Given the description of an element on the screen output the (x, y) to click on. 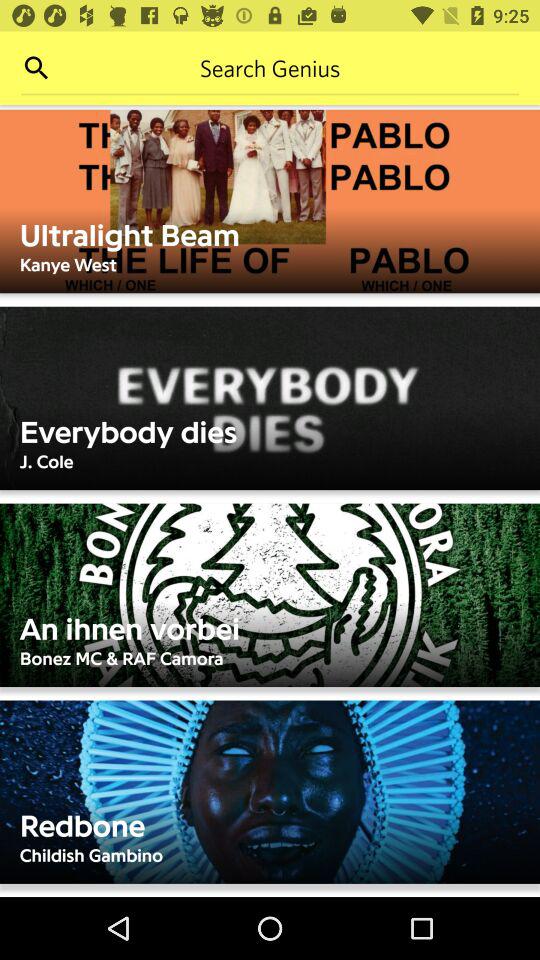
search site (36, 68)
